Given the description of an element on the screen output the (x, y) to click on. 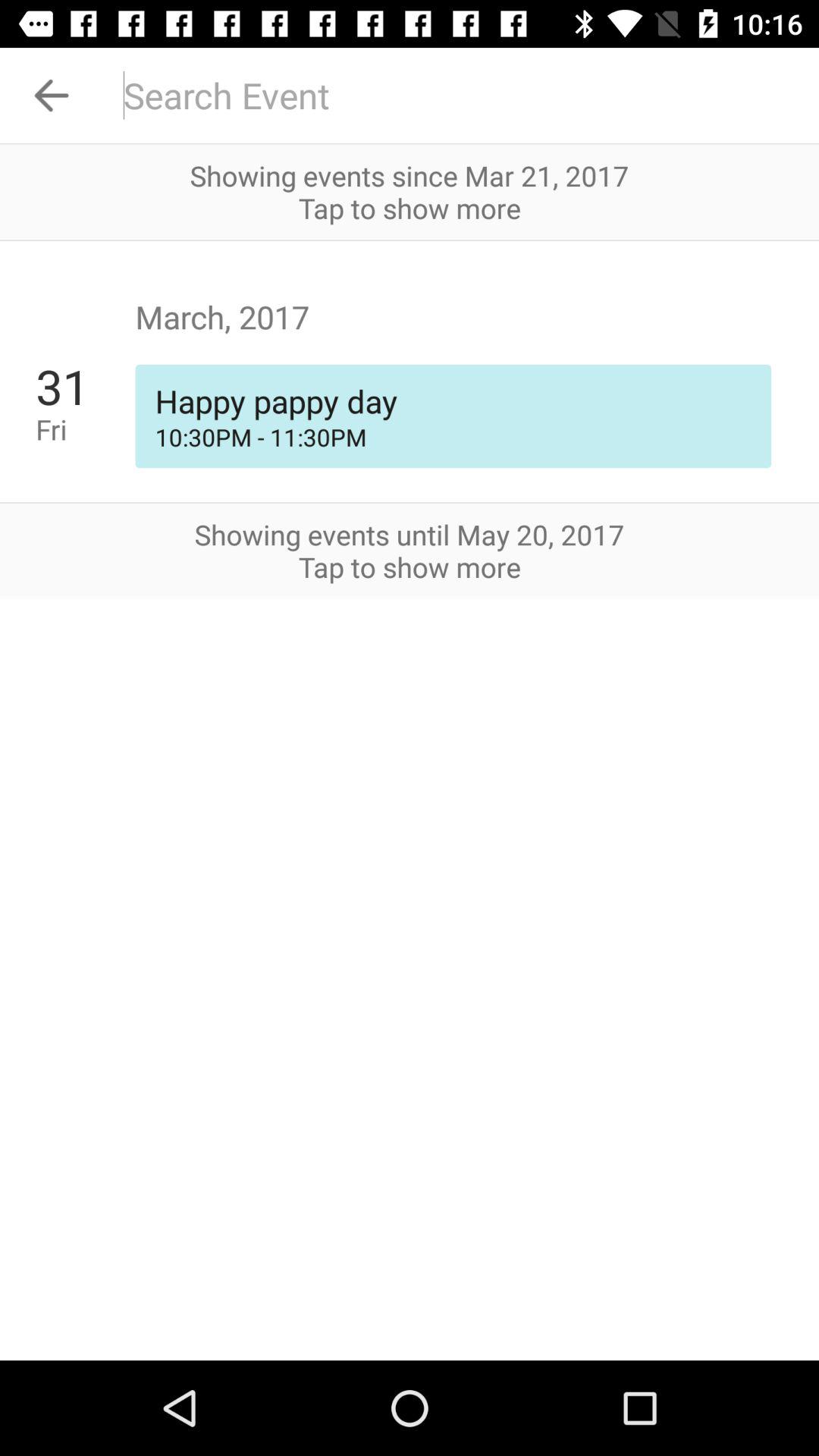
launch the icon above the 10 30pm 11 app (85, 386)
